Given the description of an element on the screen output the (x, y) to click on. 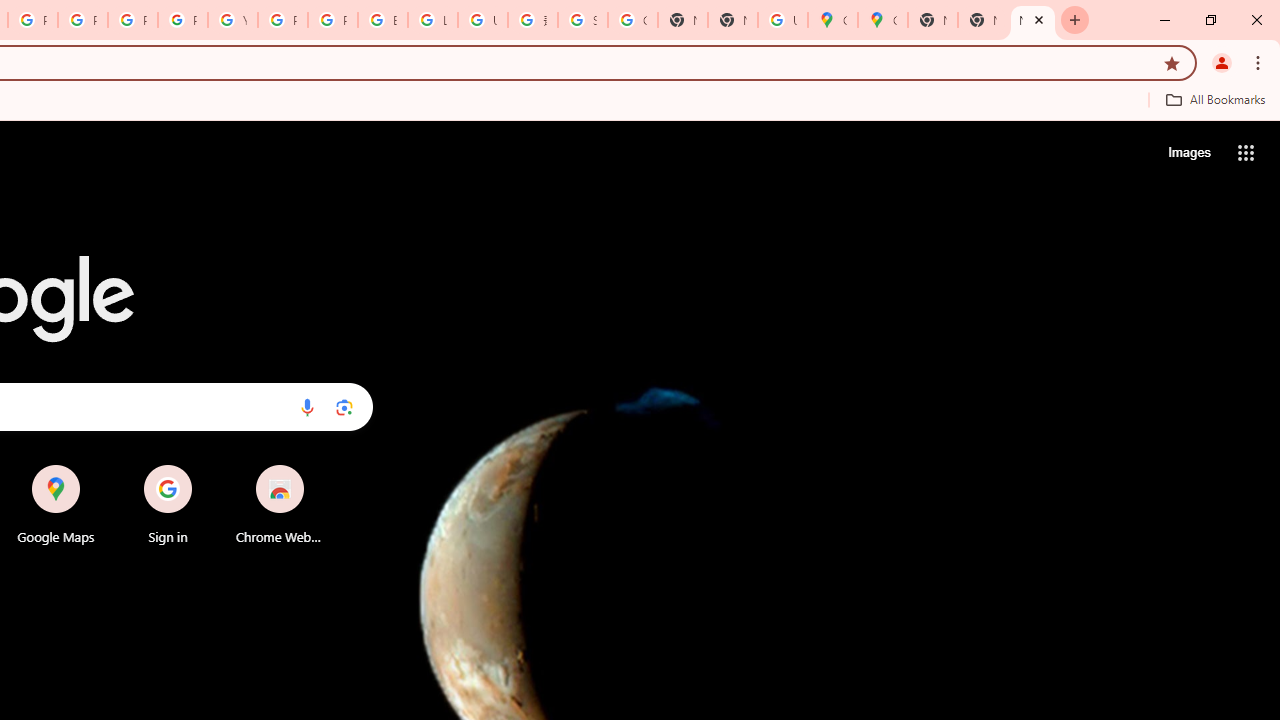
Search by voice (307, 407)
New Tab (1075, 20)
Browse Chrome as a guest - Computer - Google Chrome Help (383, 20)
Bookmark this tab (1171, 62)
Google Maps (56, 504)
You (1221, 62)
Google Maps (882, 20)
Search by image (344, 407)
Search for Images  (1188, 152)
New Tab (1032, 20)
